Given the description of an element on the screen output the (x, y) to click on. 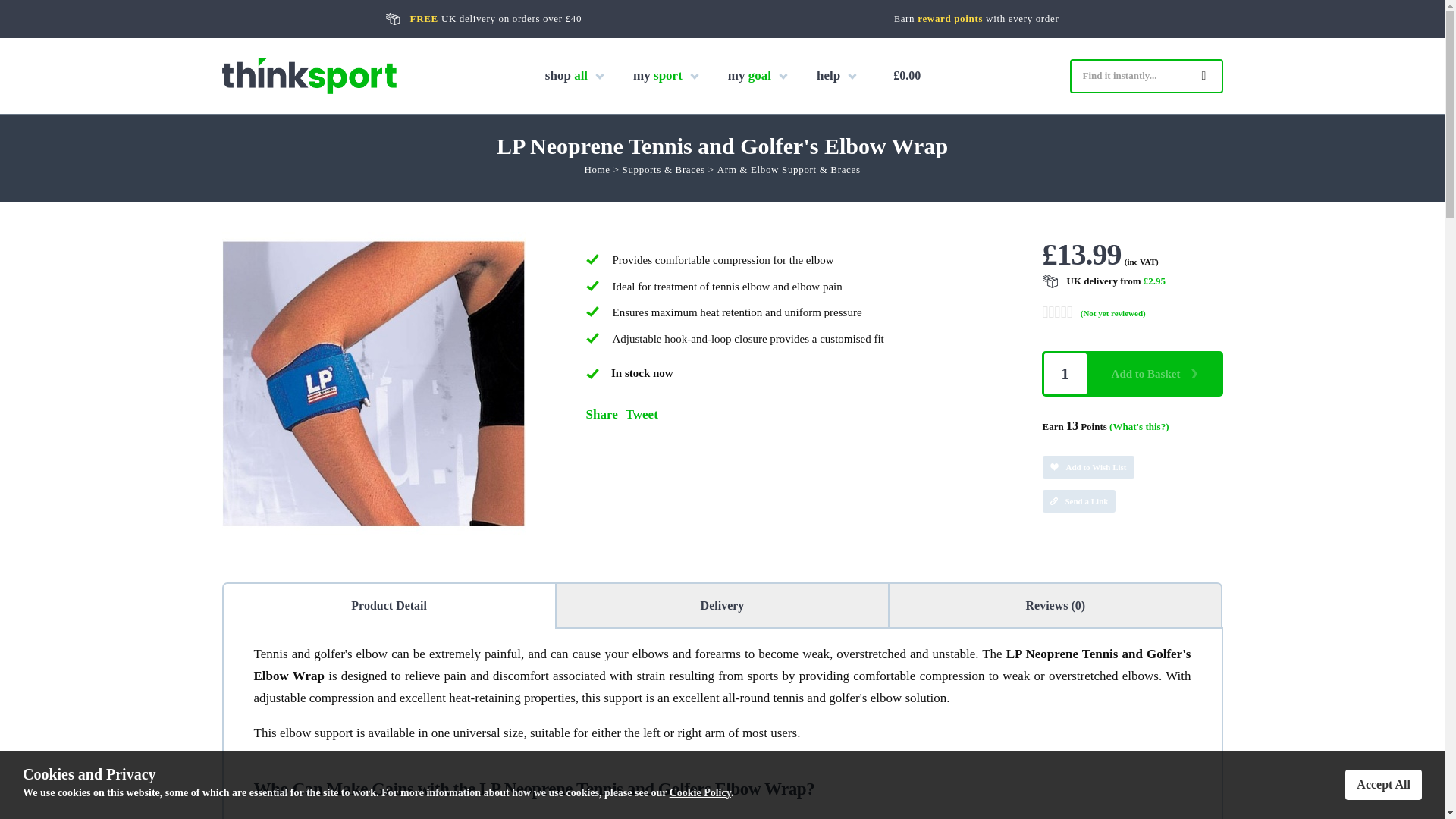
Send a link (1132, 495)
1 (1064, 372)
Zoom (372, 383)
In stock now (591, 373)
Add to Wish List (1088, 466)
Add to Basket (1154, 373)
LP Neoprene Tennis and Golfer's Elbow Wrap (372, 531)
Send a Link (1078, 500)
Delivery (722, 605)
Home (596, 170)
